Given the description of an element on the screen output the (x, y) to click on. 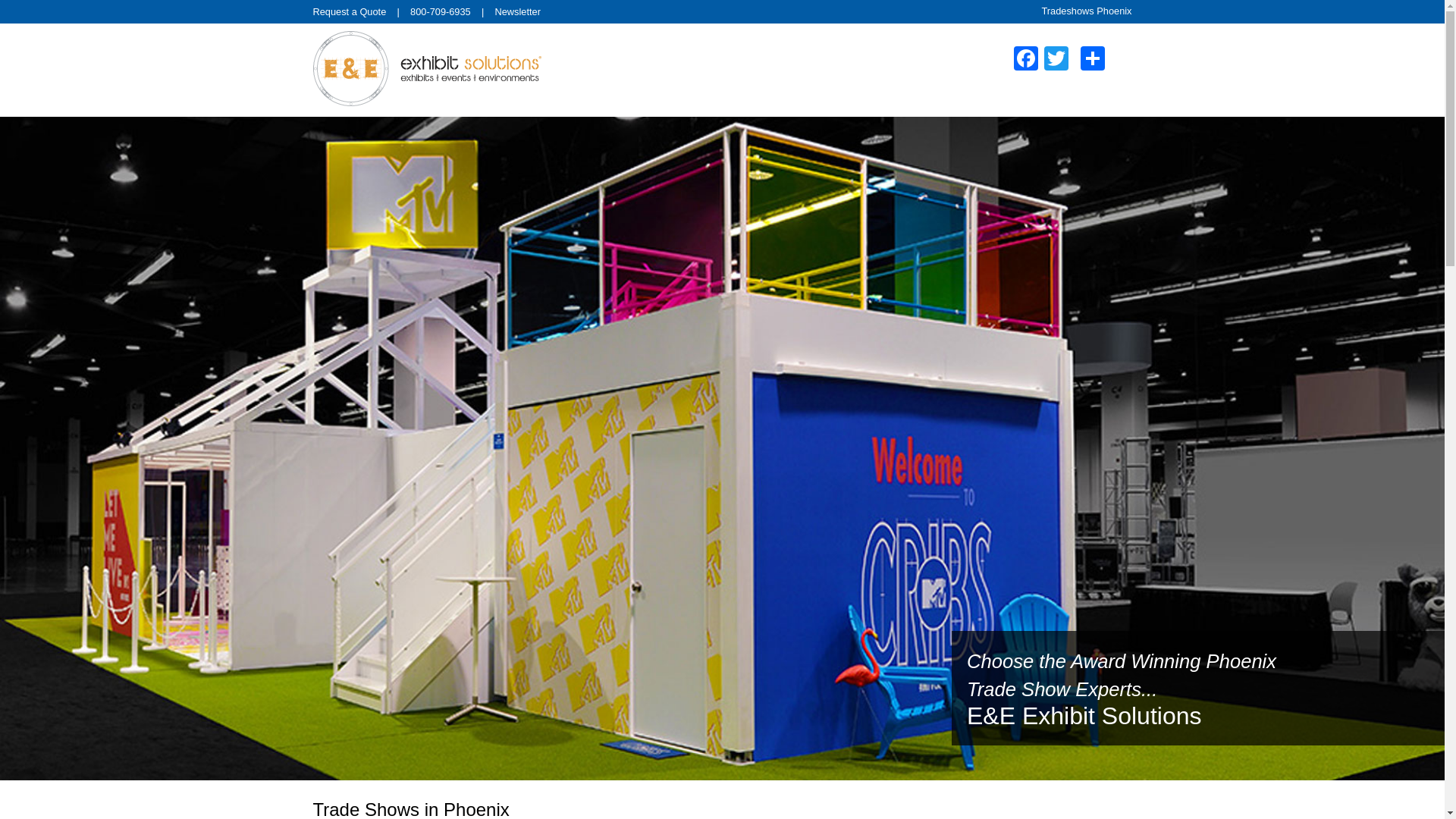
Facebook (1025, 59)
Request a Quote (349, 11)
Facebook (1025, 59)
Newsletter (517, 11)
Twitter (1055, 59)
Twitter (1055, 59)
